Given the description of an element on the screen output the (x, y) to click on. 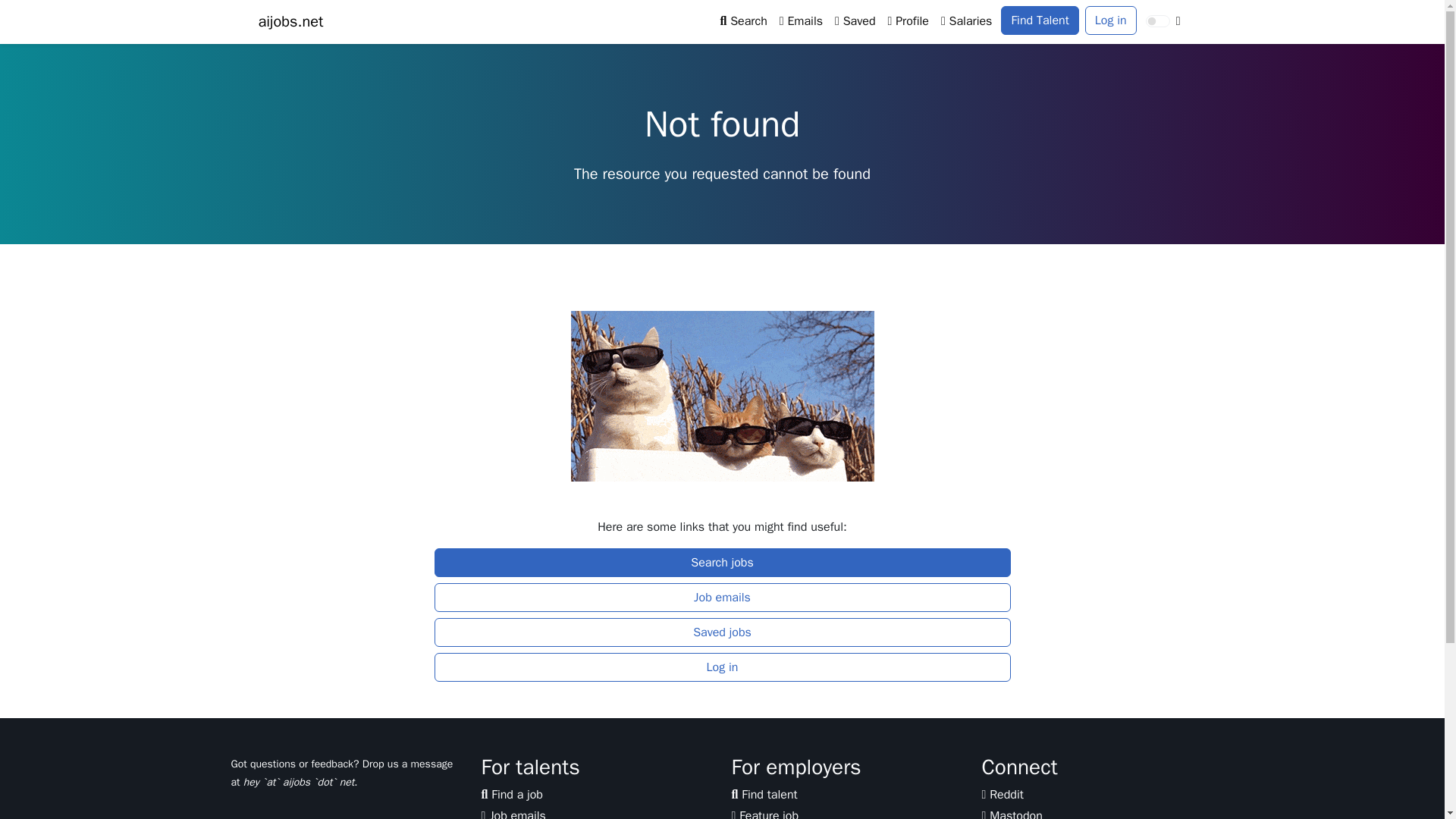
Saved jobs (721, 632)
Reddit (1002, 794)
Job emails (512, 813)
Job emails (721, 597)
Find a job (510, 794)
Salaries (966, 20)
Feature job (763, 813)
Search jobs (721, 562)
Search (743, 20)
Log in (721, 666)
aijobs.net (290, 21)
Find Talent (1039, 20)
Mastodon (1011, 813)
Log in (1110, 20)
Find talent (763, 794)
